Given the description of an element on the screen output the (x, y) to click on. 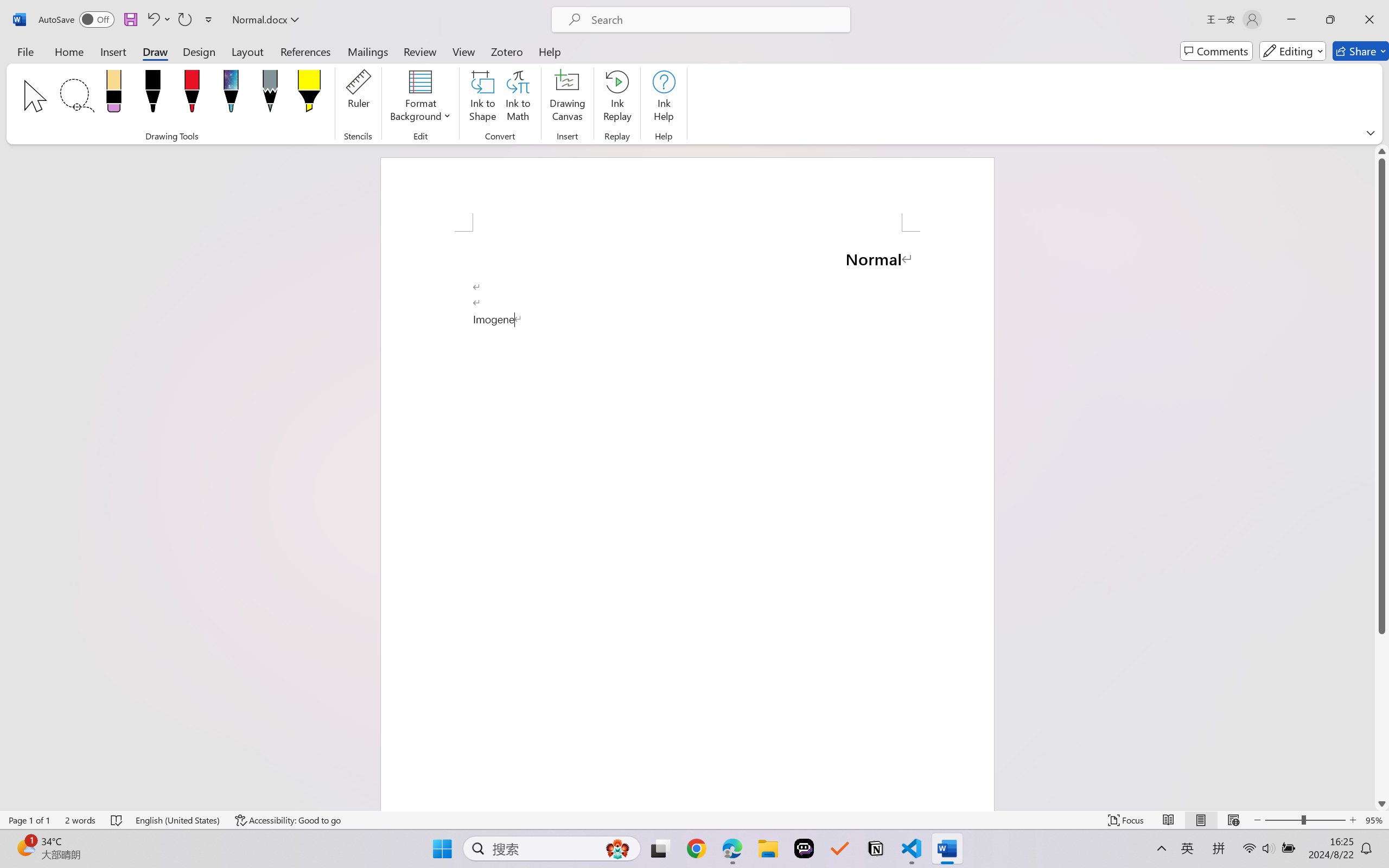
Ink Help (663, 97)
Zoom 95% (1374, 819)
Pen: Galaxy, 1 mm (230, 94)
Pen: Black, 0.5 mm (152, 94)
Ink to Math (517, 97)
Ink to Shape (483, 97)
